Given the description of an element on the screen output the (x, y) to click on. 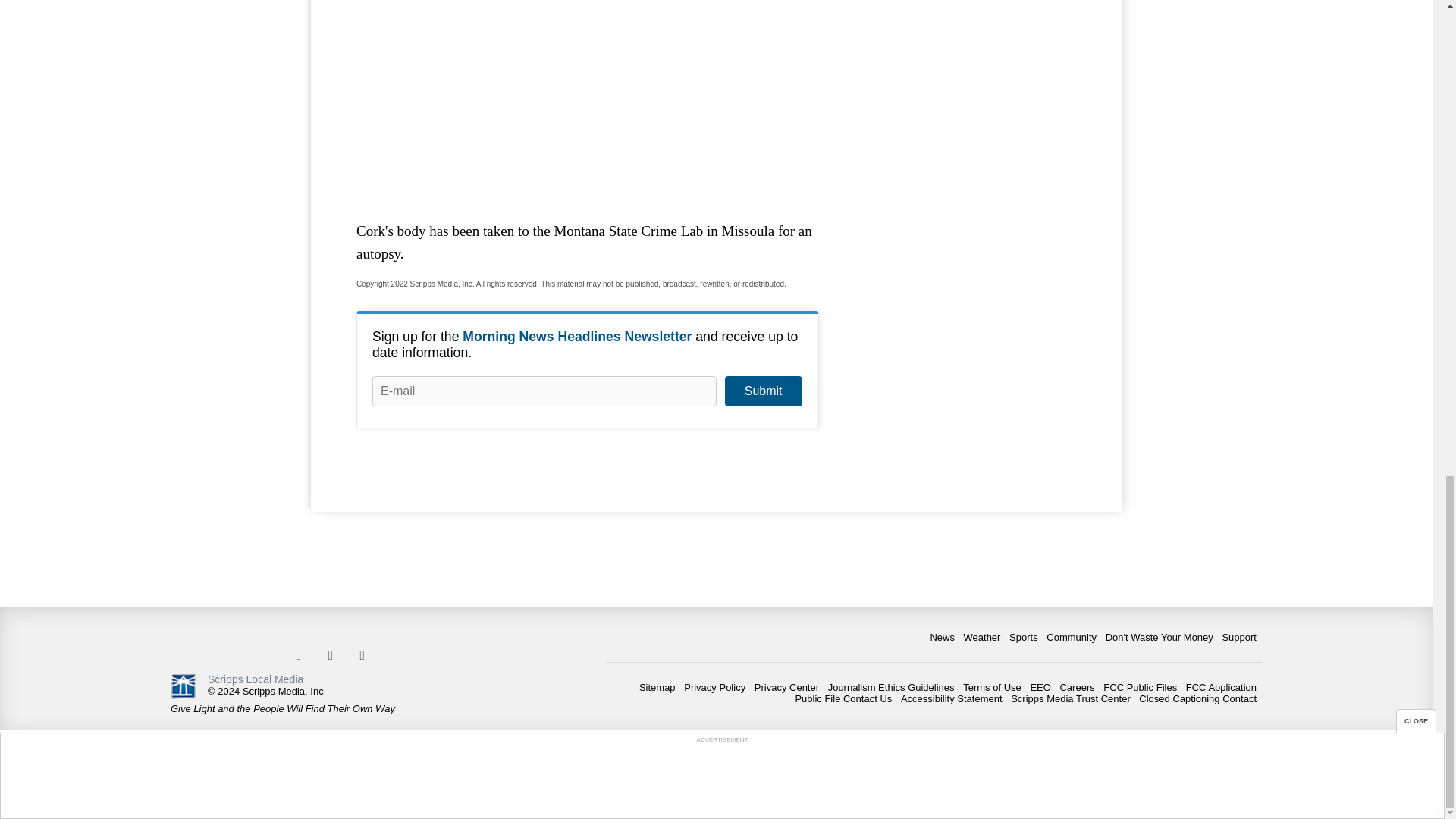
Submit (763, 390)
3rd party ad content (587, 99)
